Given the description of an element on the screen output the (x, y) to click on. 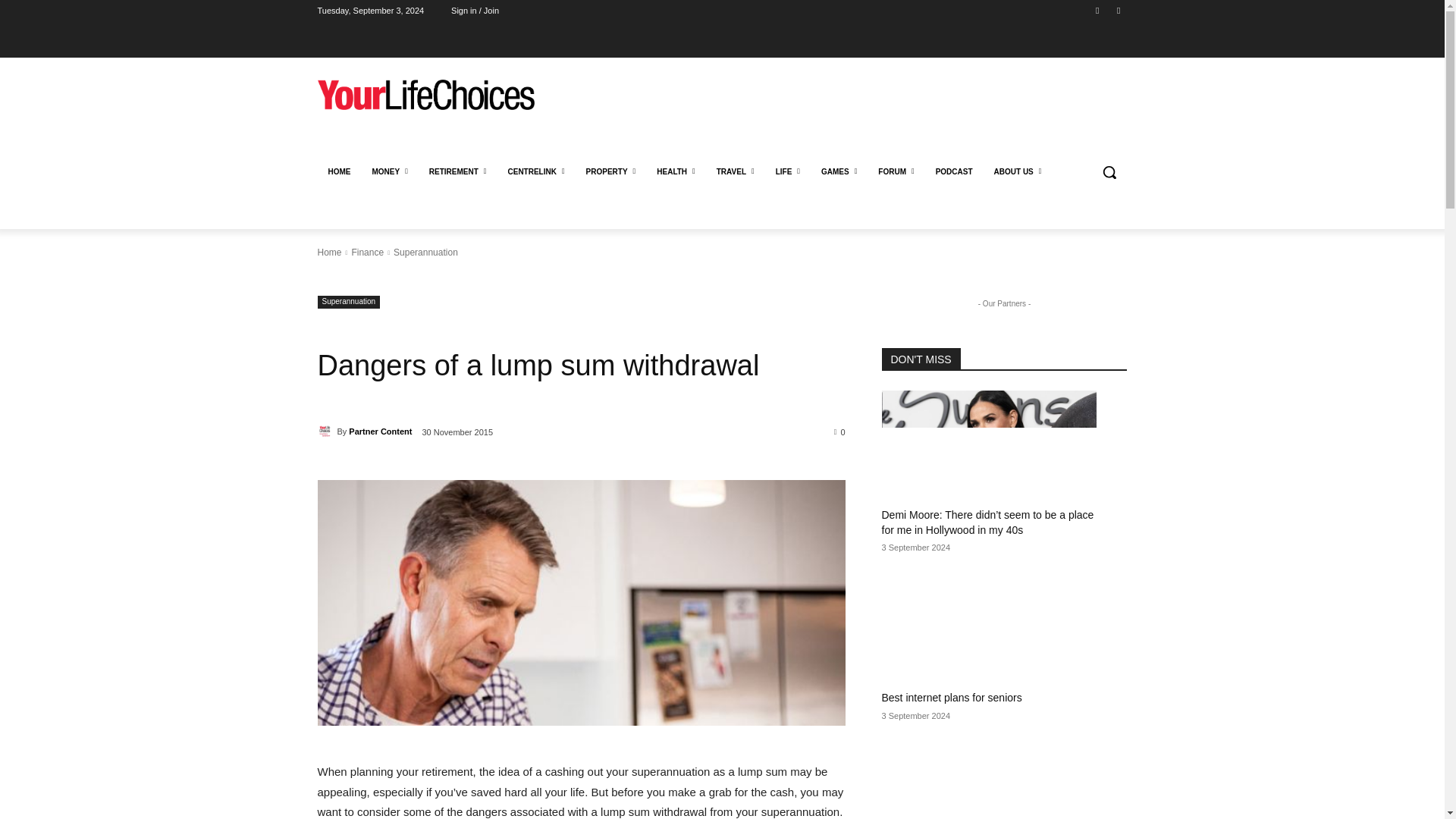
Partner Content (326, 431)
View all posts in Superannuation (425, 252)
Twitter (1117, 9)
Dangers of a lump sum withdrawal (580, 602)
View all posts in Finance (367, 252)
Best internet plans for seniors (988, 626)
Facebook (1097, 9)
